Given the description of an element on the screen output the (x, y) to click on. 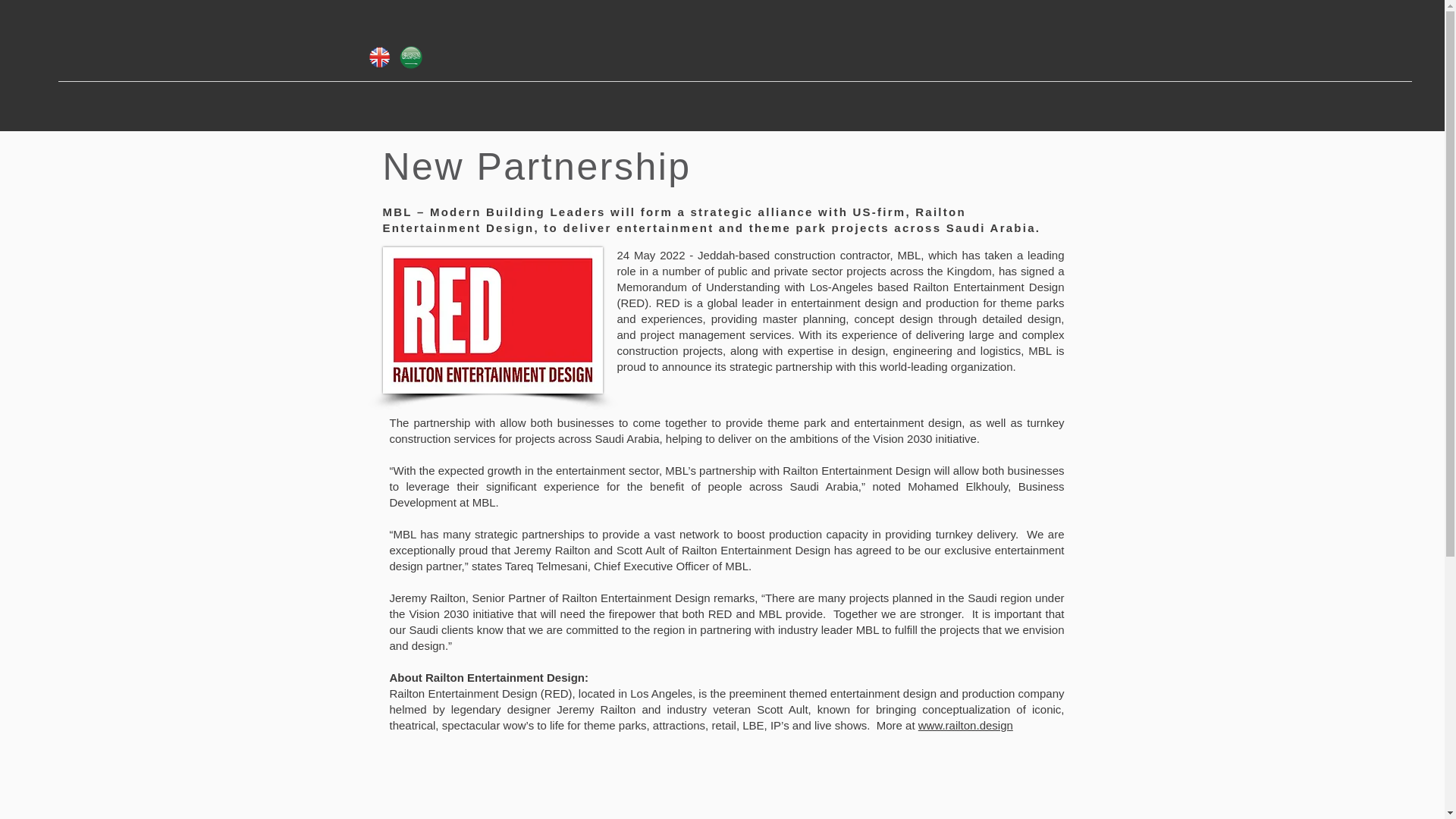
www.railton.design (965, 725)
Eye (410, 56)
Eye (378, 56)
